Given the description of an element on the screen output the (x, y) to click on. 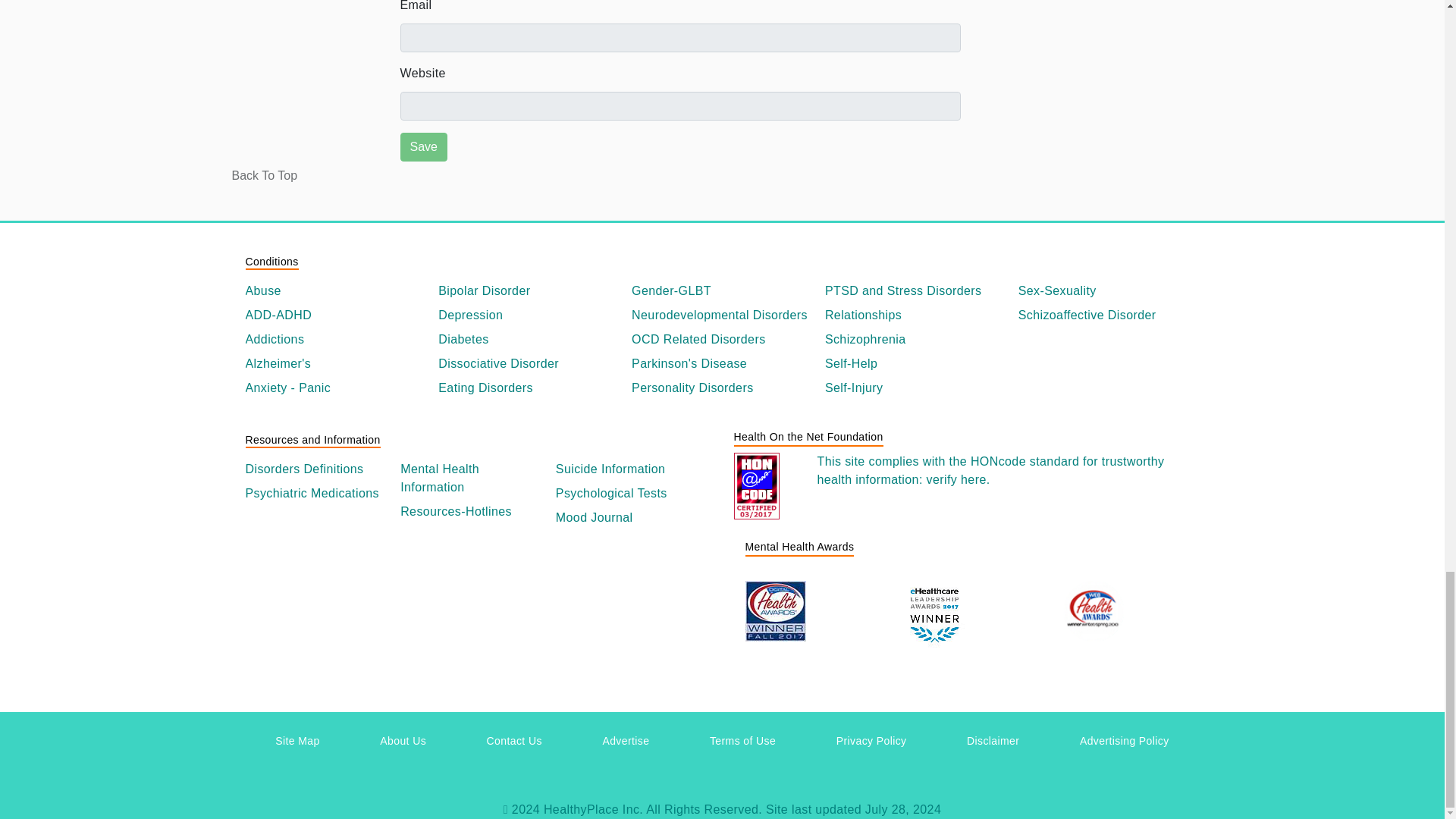
Parkinson's Disease Information Articles (721, 363)
